Given the description of an element on the screen output the (x, y) to click on. 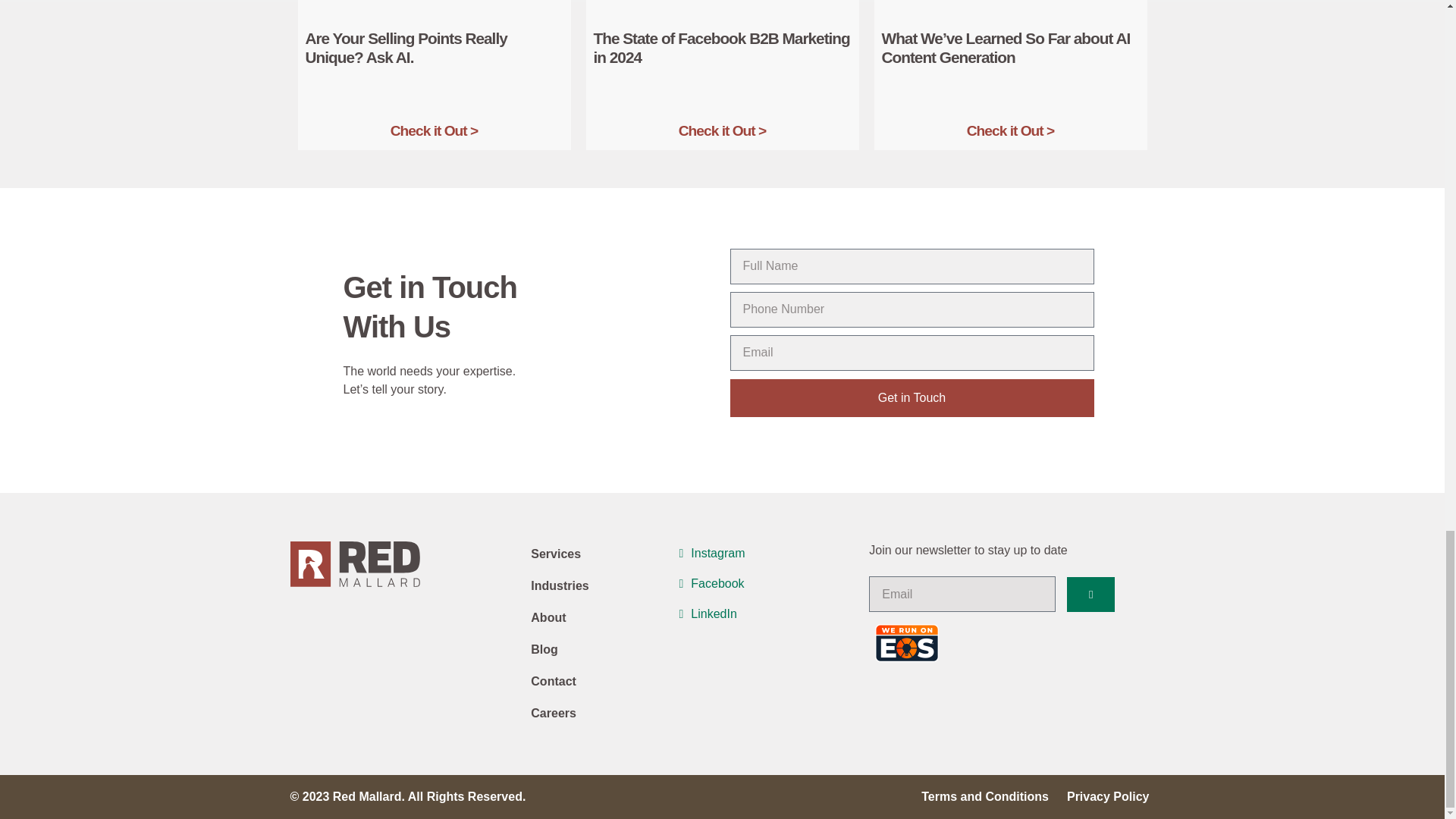
About (601, 617)
Industries (601, 585)
Blog (601, 649)
Services (601, 554)
Get in Touch (911, 397)
